Given the description of an element on the screen output the (x, y) to click on. 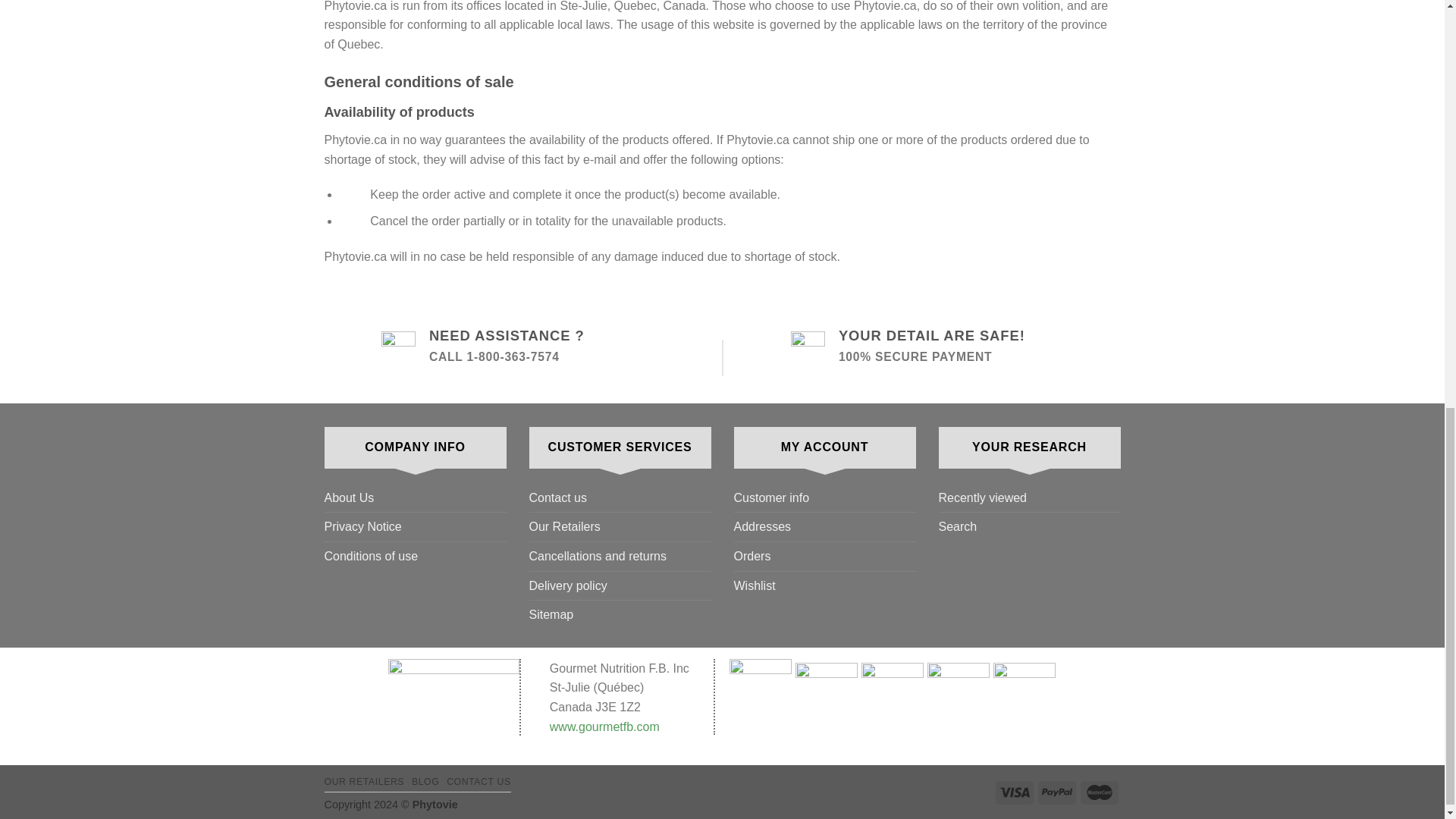
About Us (349, 498)
Privacy Notice (362, 526)
Conditions of use (371, 556)
